Given the description of an element on the screen output the (x, y) to click on. 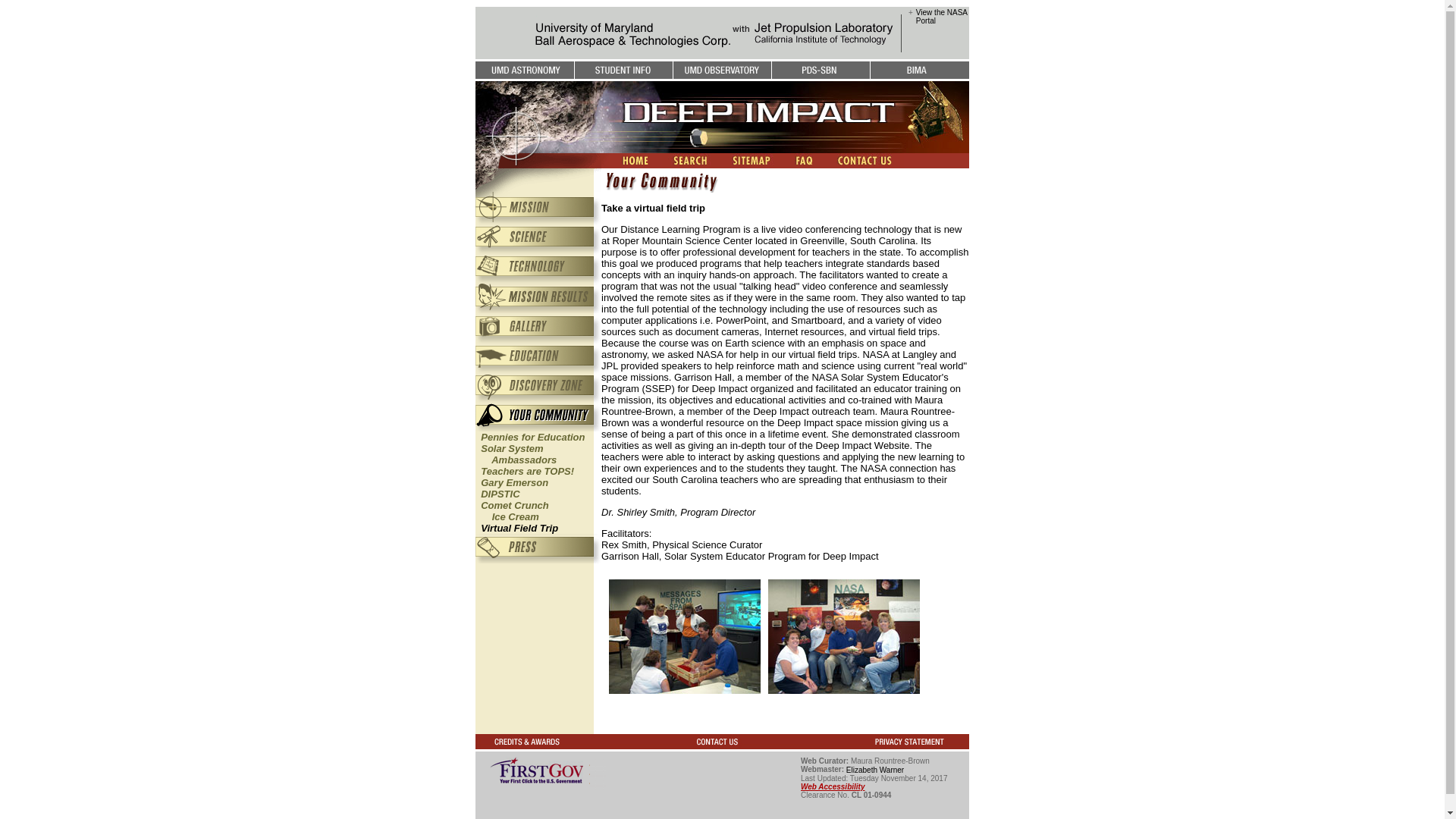
Virtual Field Trip (518, 527)
Teachers are TOPS! (516, 454)
View the NASA Portal (526, 471)
Web Accessibility (512, 510)
Gary Emerson (941, 16)
Elizabeth Warner (832, 786)
Pennies for Education (514, 482)
DIPSTIC (874, 769)
